Given the description of an element on the screen output the (x, y) to click on. 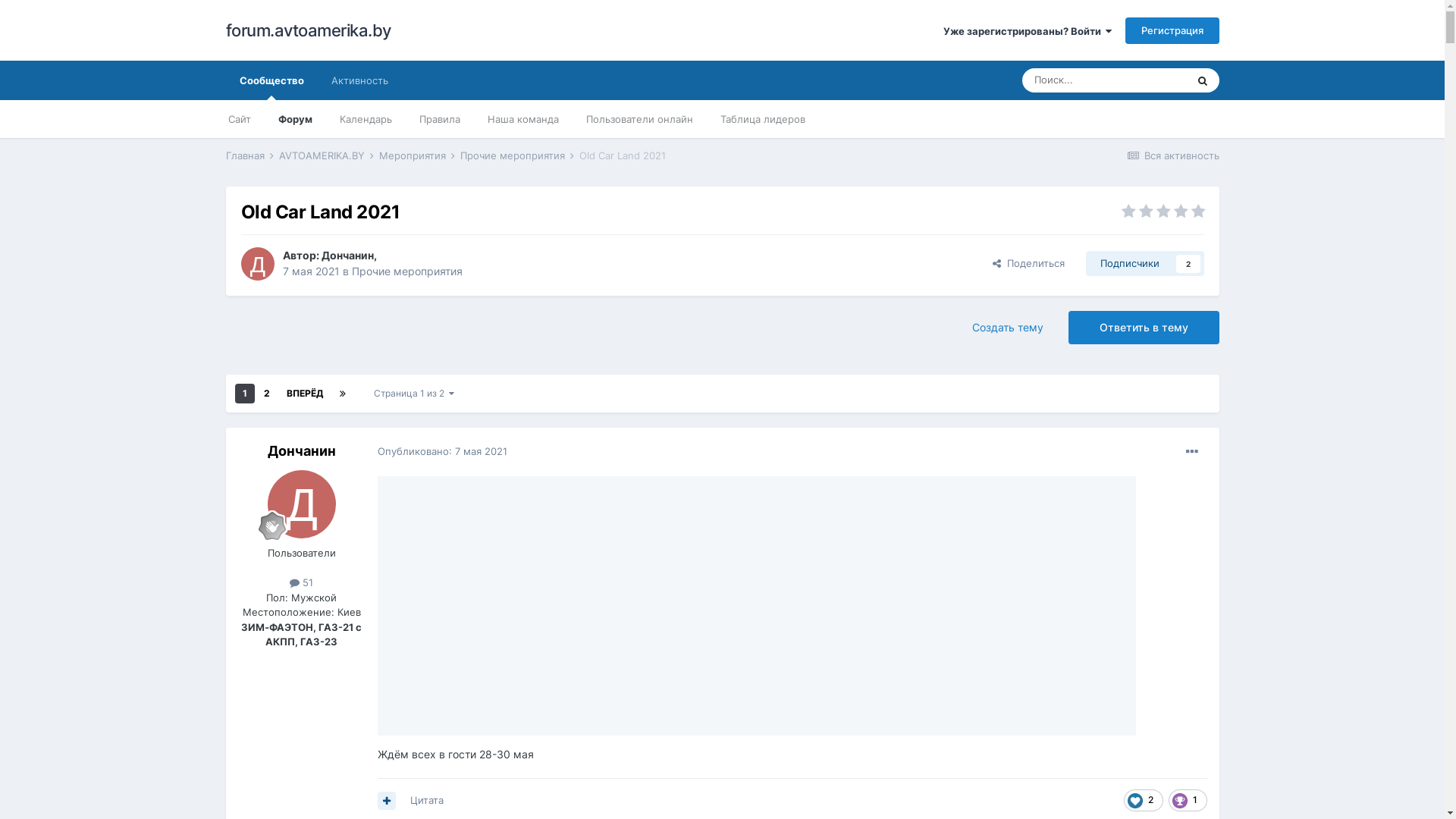
2 Element type: text (266, 393)
forum.avtoamerika.by Element type: text (308, 30)
1 Element type: text (244, 393)
51 Element type: text (301, 582)
AVTOAMERIKA.BY Element type: text (327, 154)
